Given the description of an element on the screen output the (x, y) to click on. 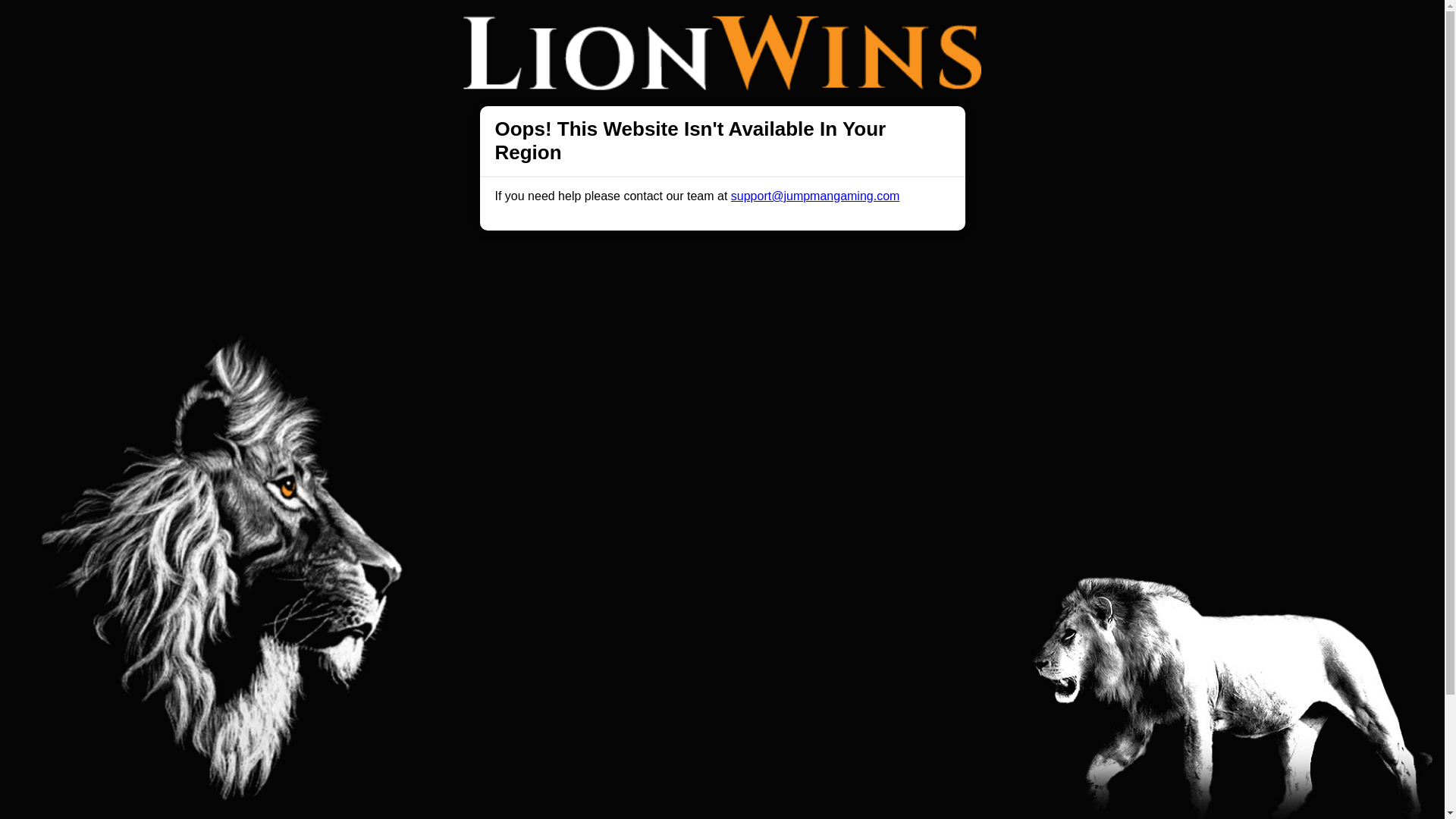
Trophies (515, 26)
All Games (656, 26)
Privacy Policy (671, 627)
www.begambleaware.org (615, 793)
www.jumpmancares.co.uk (738, 793)
Login (962, 26)
Responsible Gaming (407, 627)
Help (489, 627)
Affiliates (791, 627)
Join Now (1054, 26)
